Given the description of an element on the screen output the (x, y) to click on. 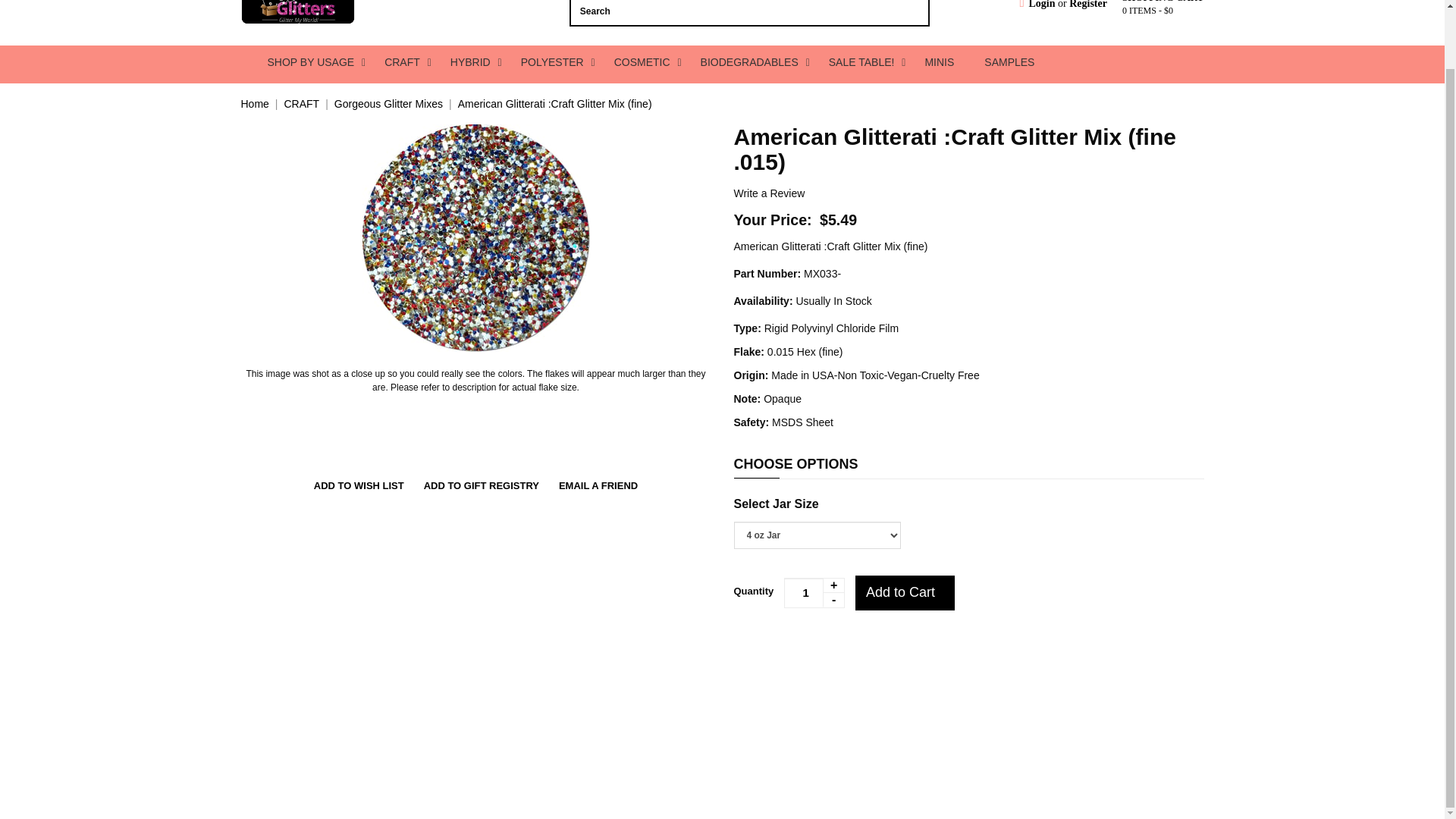
Login (1036, 4)
1 (814, 593)
Register (1087, 4)
